Given the description of an element on the screen output the (x, y) to click on. 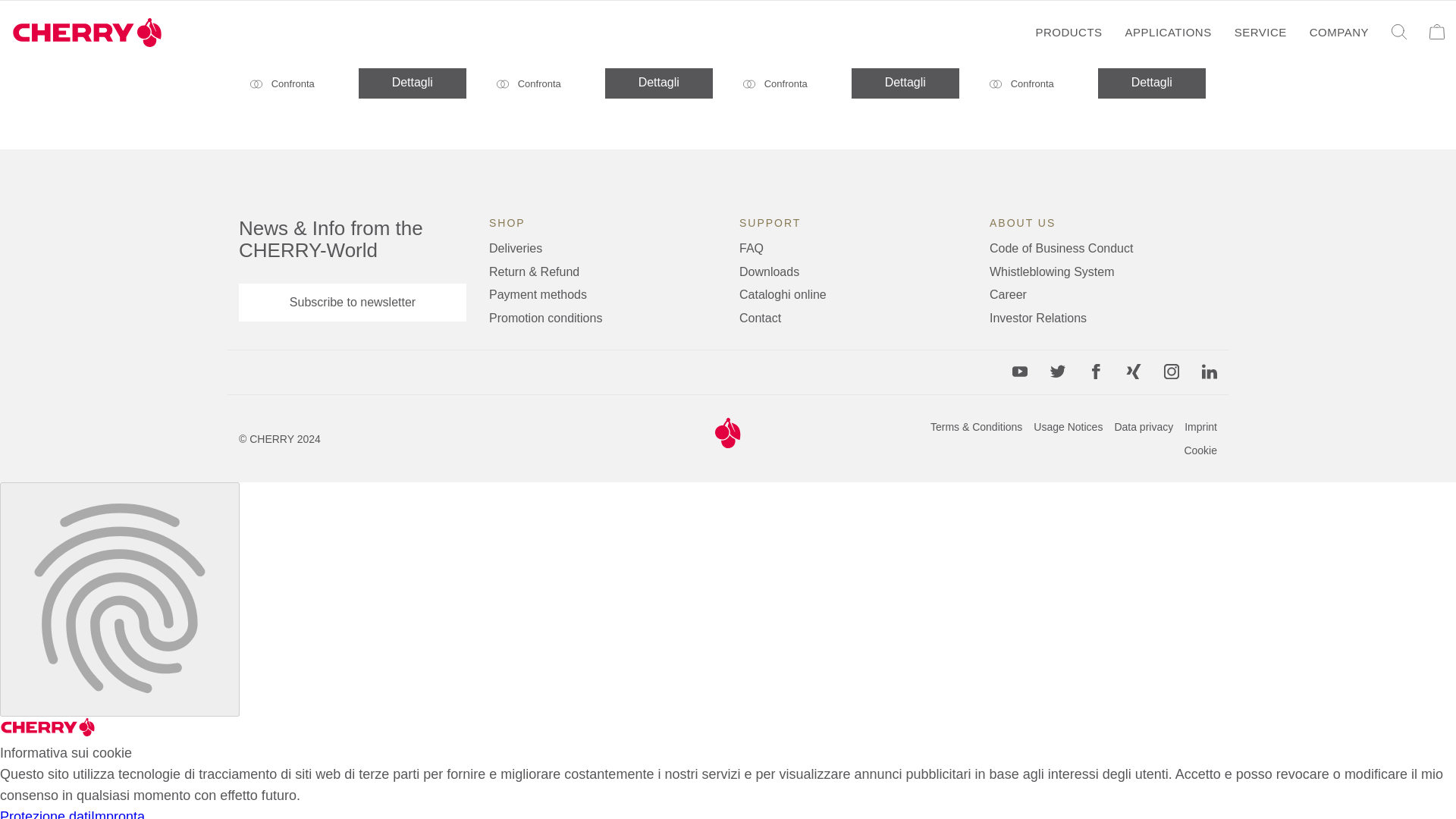
Xing (1133, 371)
Facebook (1095, 371)
Youtube (1019, 371)
Instagram (1171, 371)
LinkedIn (1209, 371)
Twitter (1057, 371)
